Given the description of an element on the screen output the (x, y) to click on. 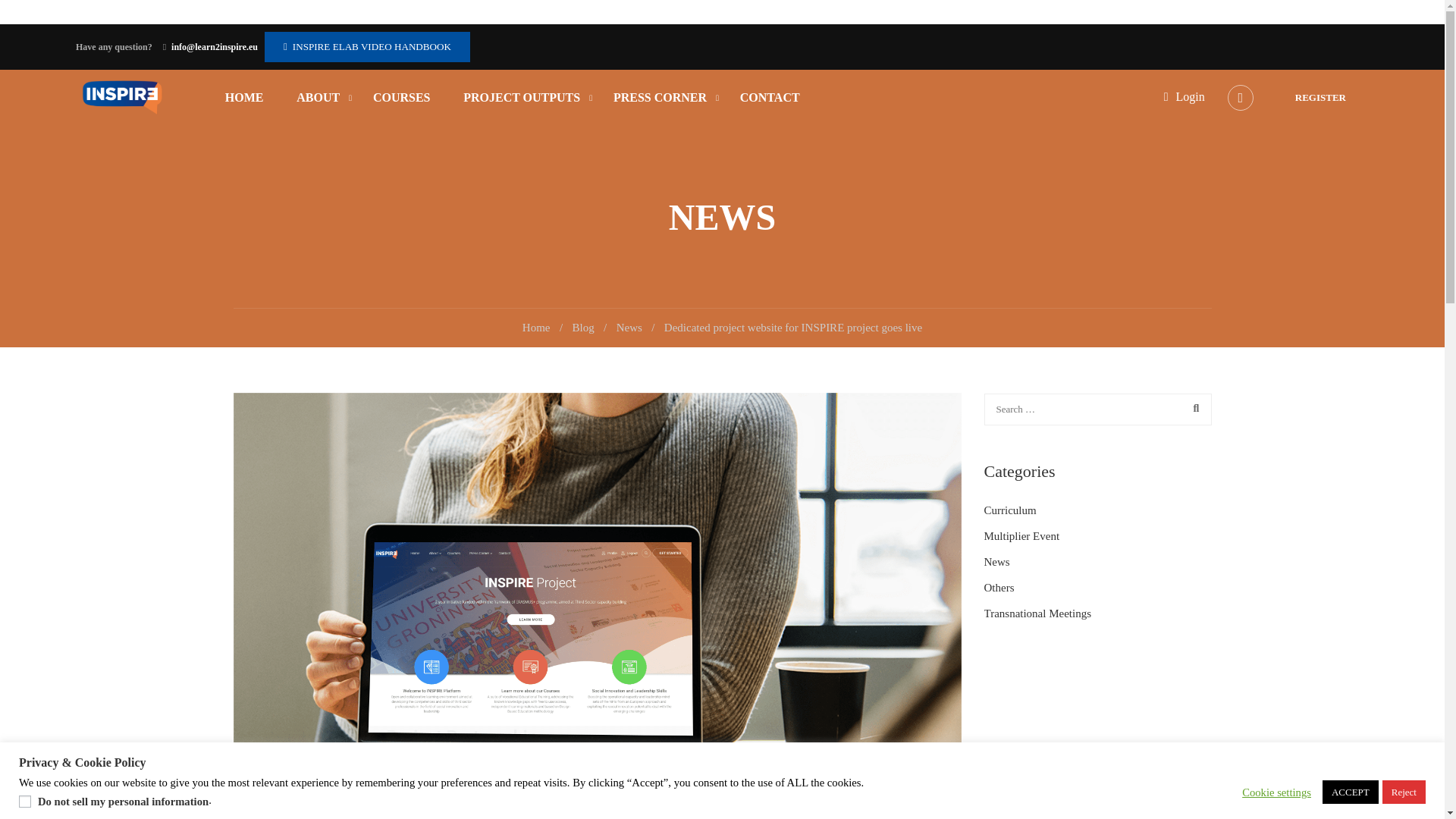
COURSES (401, 97)
HOME (244, 97)
ABOUT (318, 97)
Blog (589, 327)
INSPIRE ELAB VIDEO HANDBOOK (367, 46)
Search (1192, 409)
INSPIRE ELAB VIDEO HANDBOOK (371, 46)
Dedicated project website for INSPIRE project goes live (792, 327)
News (635, 327)
Home (542, 327)
on (24, 801)
PROJECT OUTPUTS (521, 97)
Search (1192, 409)
CONTACT (762, 97)
PRESS CORNER (660, 97)
